Given the description of an element on the screen output the (x, y) to click on. 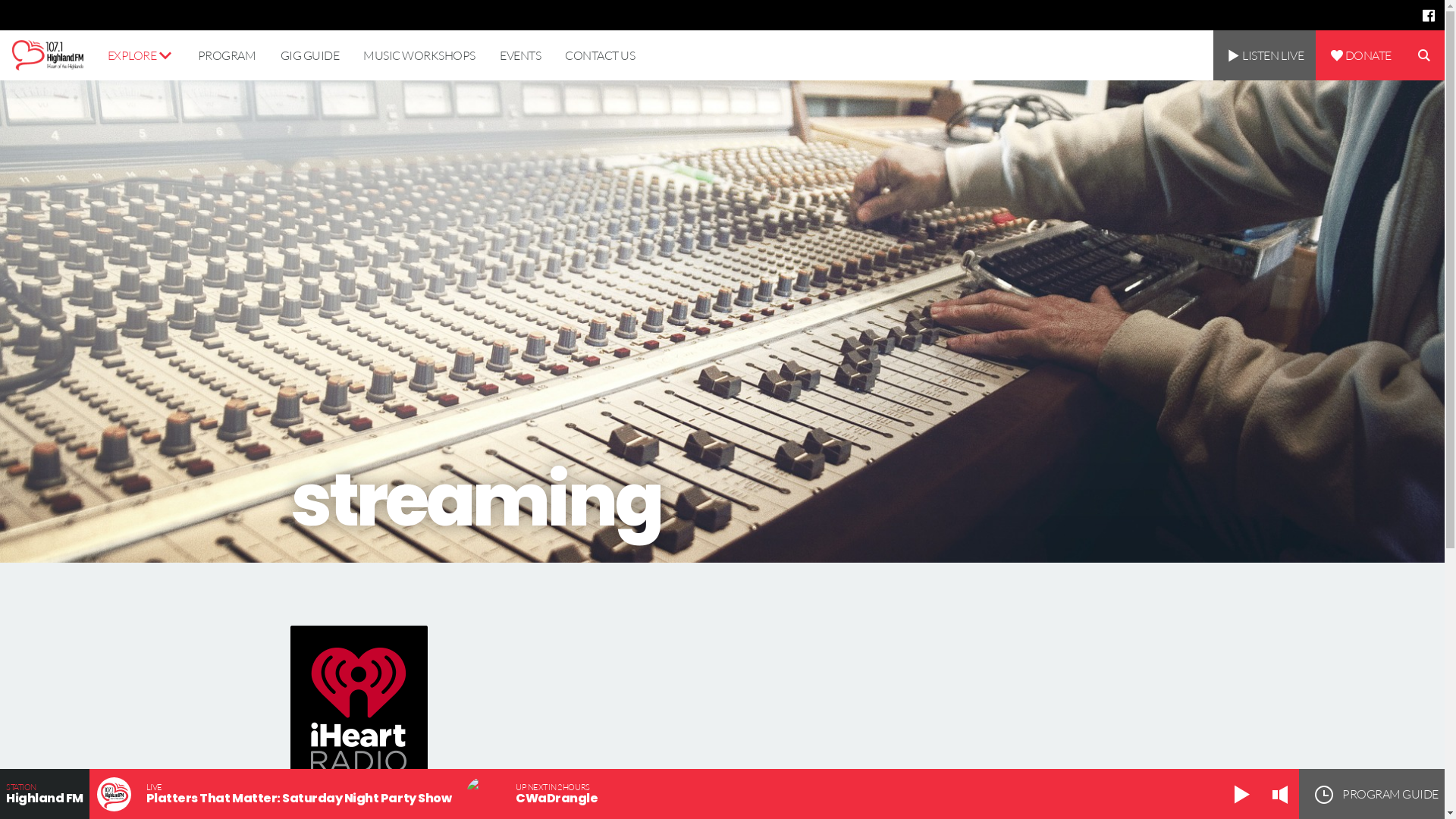
EVENTS Element type: text (519, 55)
LISTEN LIVE Element type: text (1264, 55)
  Element type: text (1428, 14)
EXPLORE Element type: text (140, 55)
GIG GUIDE Element type: text (309, 55)
MUSIC WORKSHOPS Element type: text (419, 55)
PROGRAM Element type: text (226, 55)
DONATE Element type: text (1359, 55)
CONTACT US Element type: text (599, 55)
streaming Element type: text (721, 321)
